Given the description of an element on the screen output the (x, y) to click on. 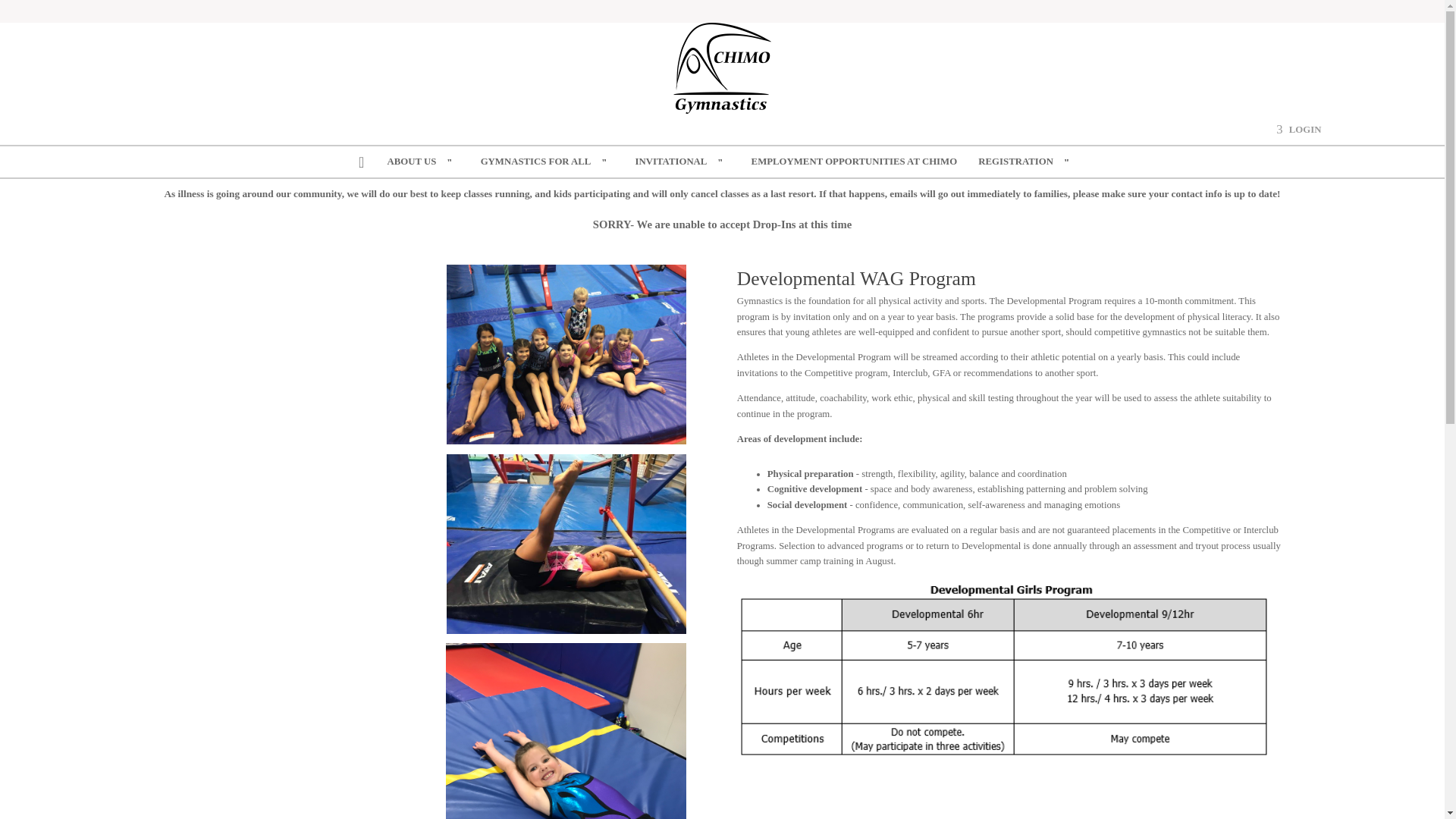
LOGIN (1298, 128)
Gymnastics For All (547, 161)
About Us (423, 161)
Chimo Gymnastics  (721, 67)
EMPLOYMENT OPPORTUNITIES AT CHIMO (854, 161)
GYMNASTICS FOR ALL (547, 161)
ABOUT US (423, 161)
REGISTRATION (1027, 161)
INVITATIONAL (682, 161)
Login (1298, 128)
